Given the description of an element on the screen output the (x, y) to click on. 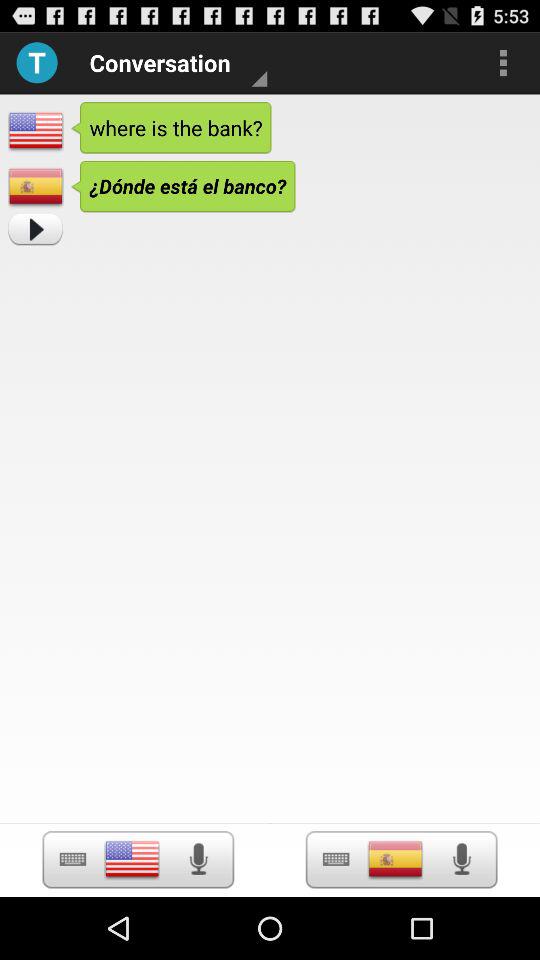
country blog (131, 859)
